Given the description of an element on the screen output the (x, y) to click on. 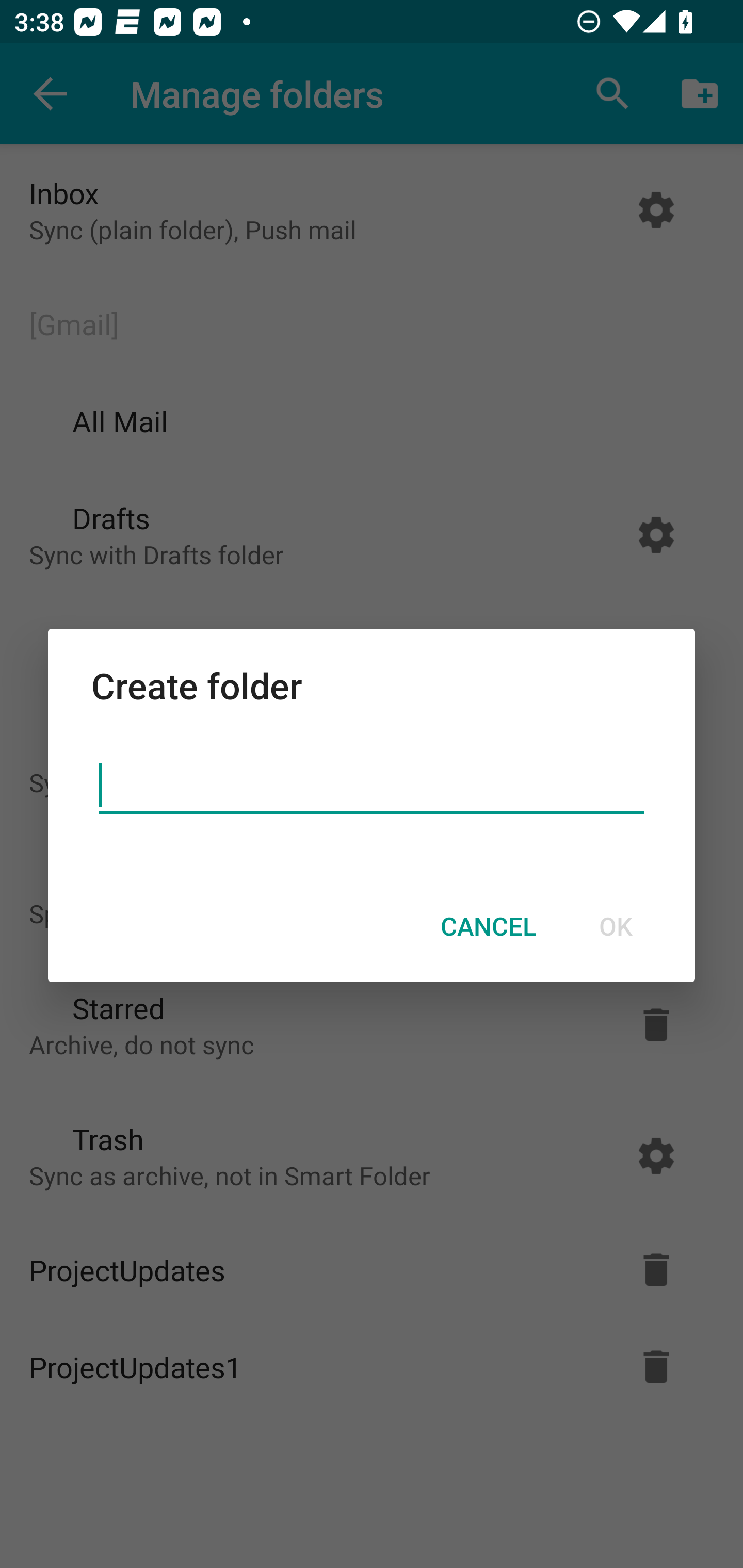
CANCEL (488, 926)
OK (615, 926)
